Given the description of an element on the screen output the (x, y) to click on. 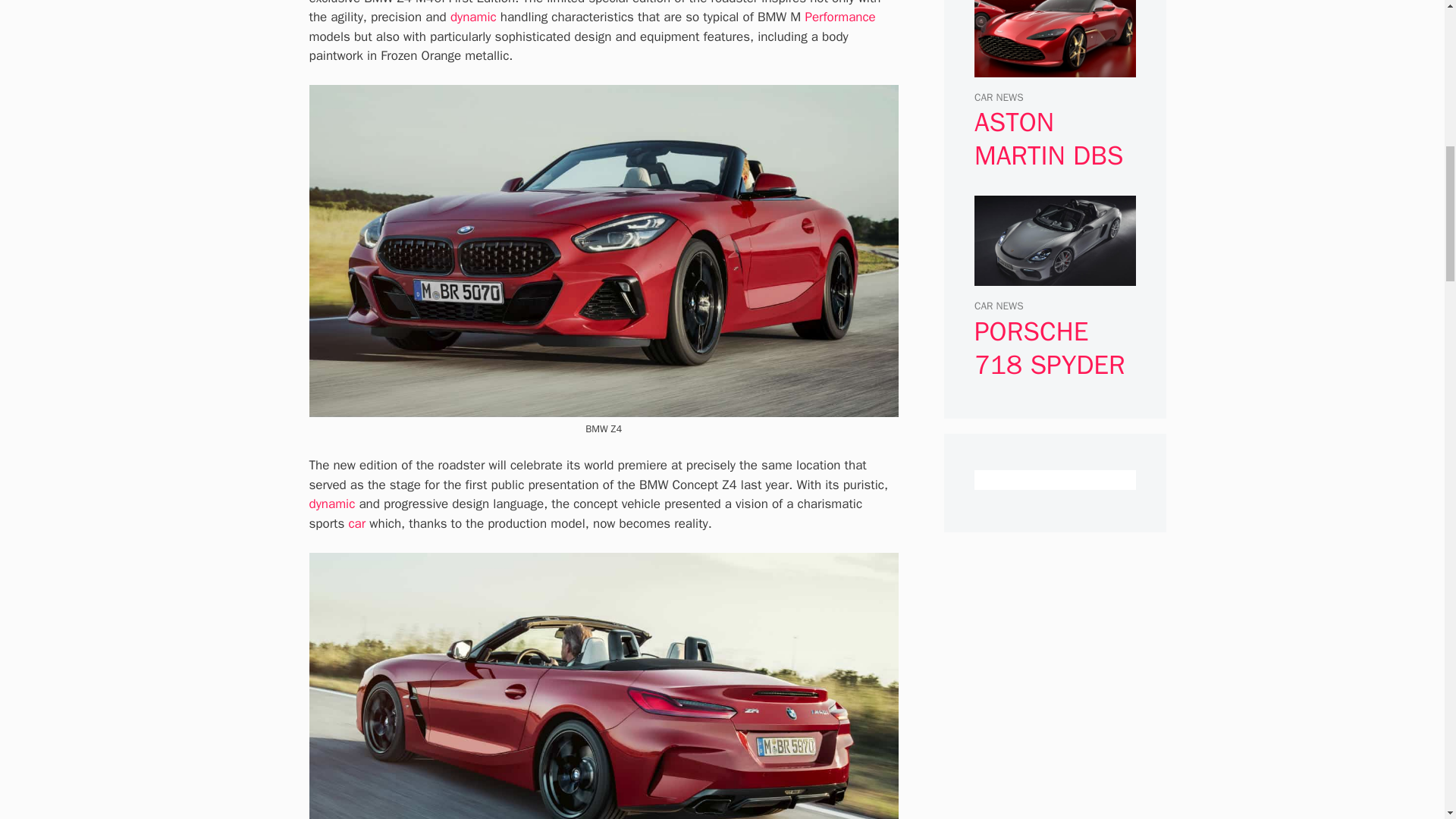
car (356, 523)
dynamic (472, 17)
Performance (840, 17)
dynamic (331, 503)
